Given the description of an element on the screen output the (x, y) to click on. 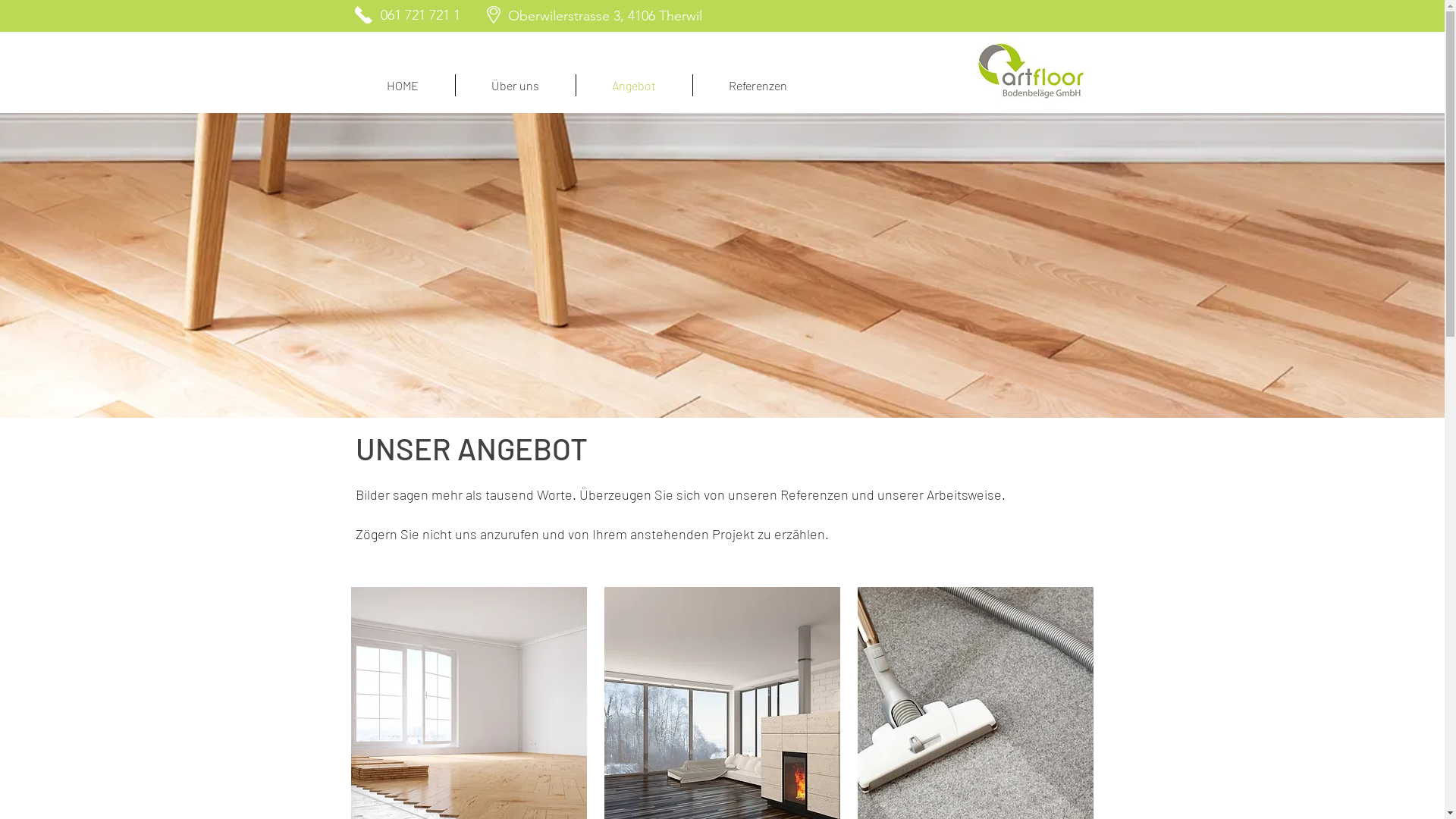
Angebot Element type: text (634, 85)
Referenzen Element type: text (758, 85)
HOME Element type: text (402, 85)
